Given the description of an element on the screen output the (x, y) to click on. 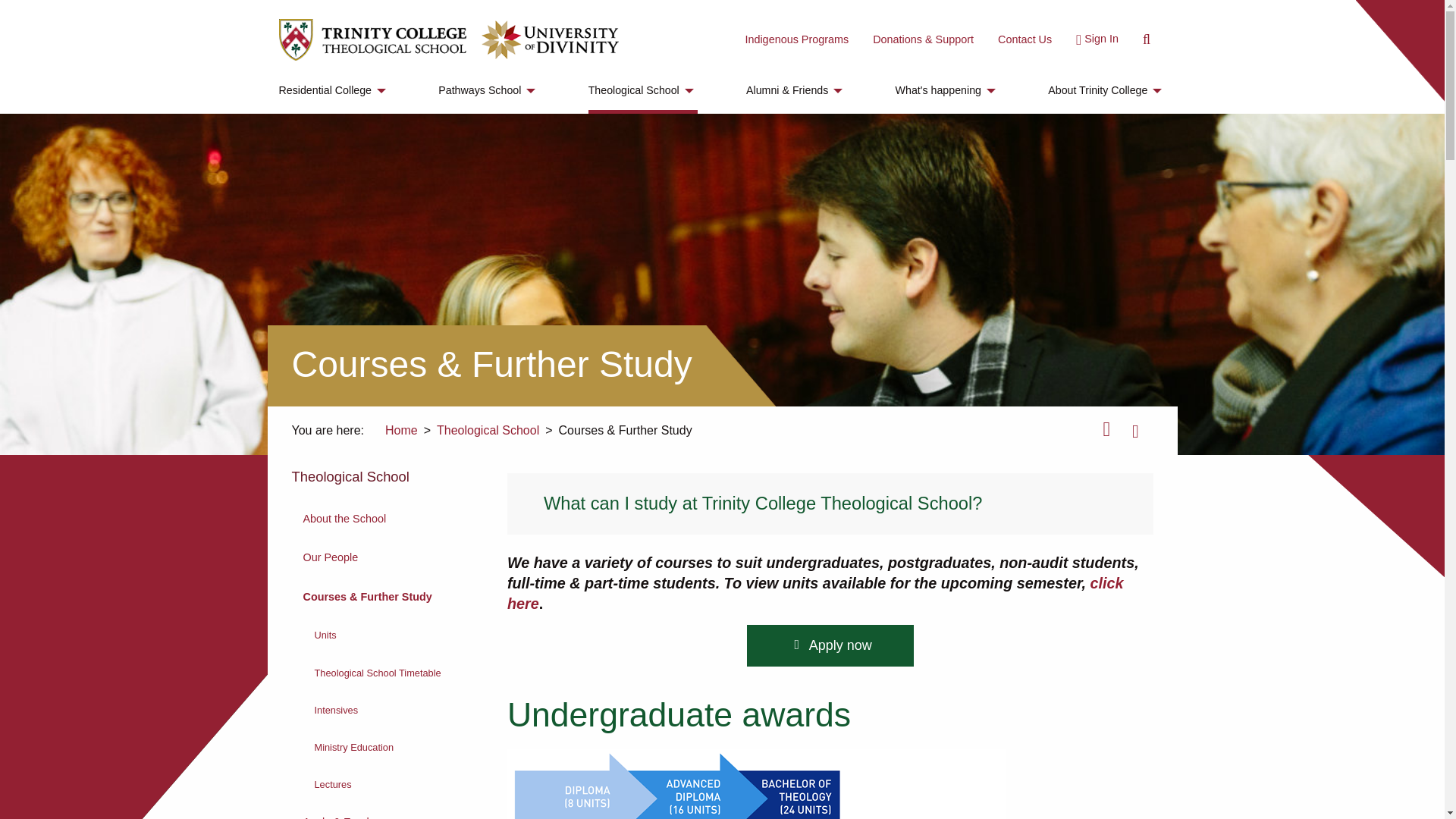
Indigenous Programs (796, 39)
Residential College (334, 90)
Contact Us (1024, 39)
Return to home page (372, 39)
Sign In (1092, 39)
Pathways School (488, 90)
Theological School (642, 90)
